Given the description of an element on the screen output the (x, y) to click on. 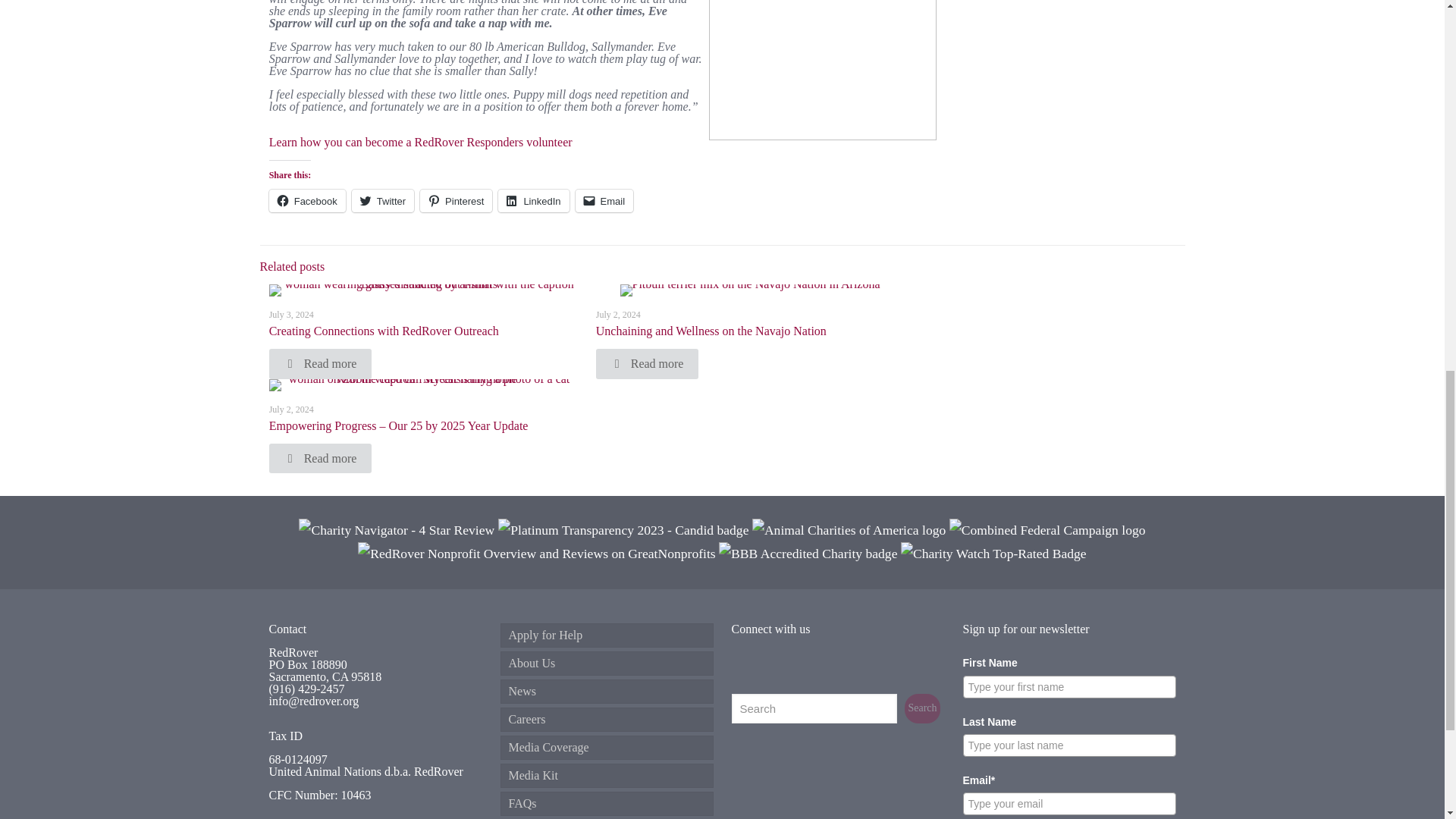
Better Business Bureau Accreditation (807, 553)
Click to email a link to a friend (604, 200)
2024 Review from Candid (622, 529)
2022 Top-rated nonprofits and charities (536, 554)
Click to share on Pinterest (456, 200)
Combined Federal Campaign (1047, 529)
2022 Charity Navigator (397, 529)
Click to share on Twitter (382, 200)
Animal Charities of America (848, 529)
Charity Watch (993, 553)
Click to share on LinkedIn (533, 200)
Click to share on Facebook (307, 200)
